Given the description of an element on the screen output the (x, y) to click on. 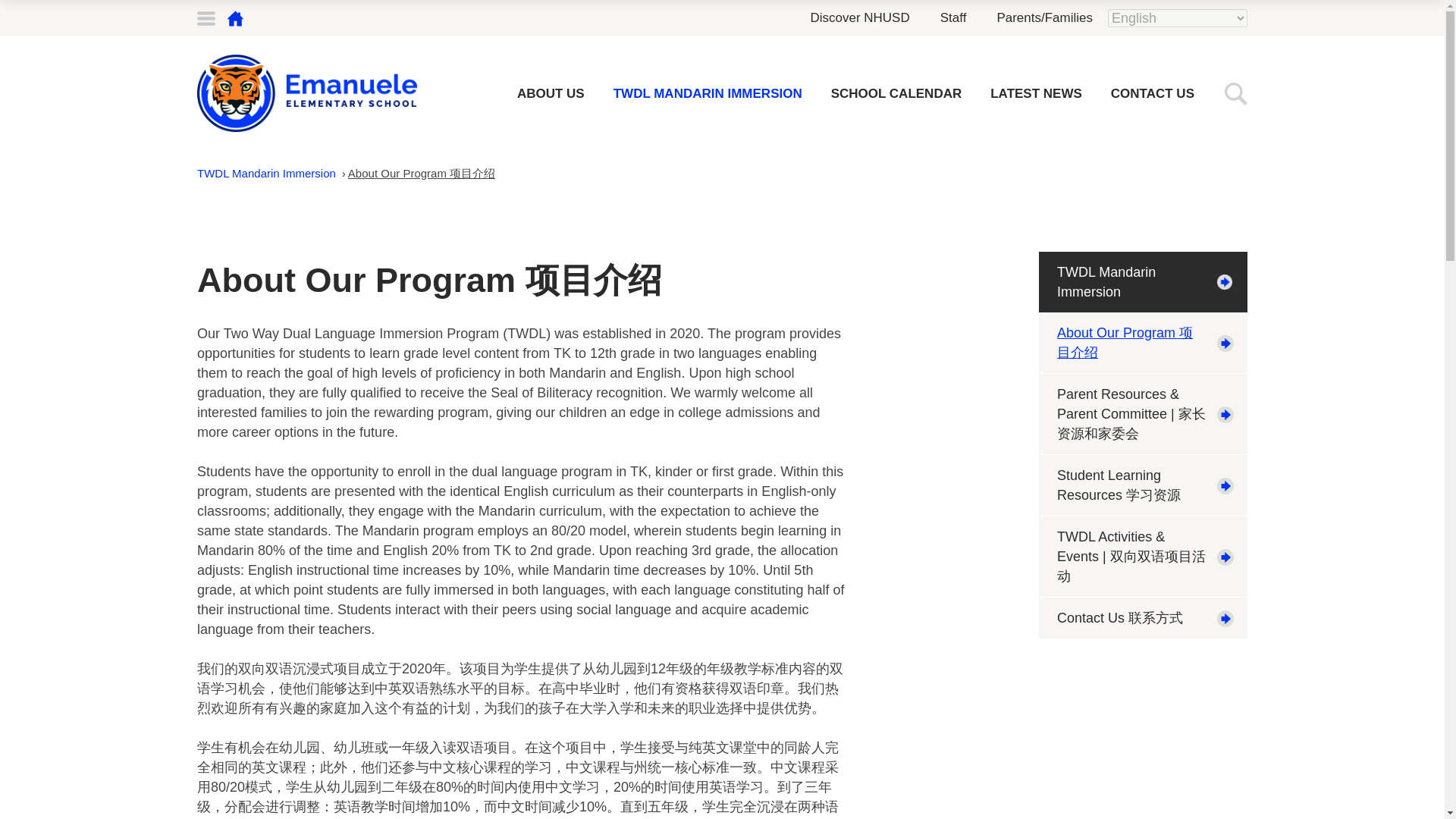
Discover NHUSD (858, 17)
Staff (953, 17)
Discover NHUSD (858, 17)
Staff (953, 17)
